Given the description of an element on the screen output the (x, y) to click on. 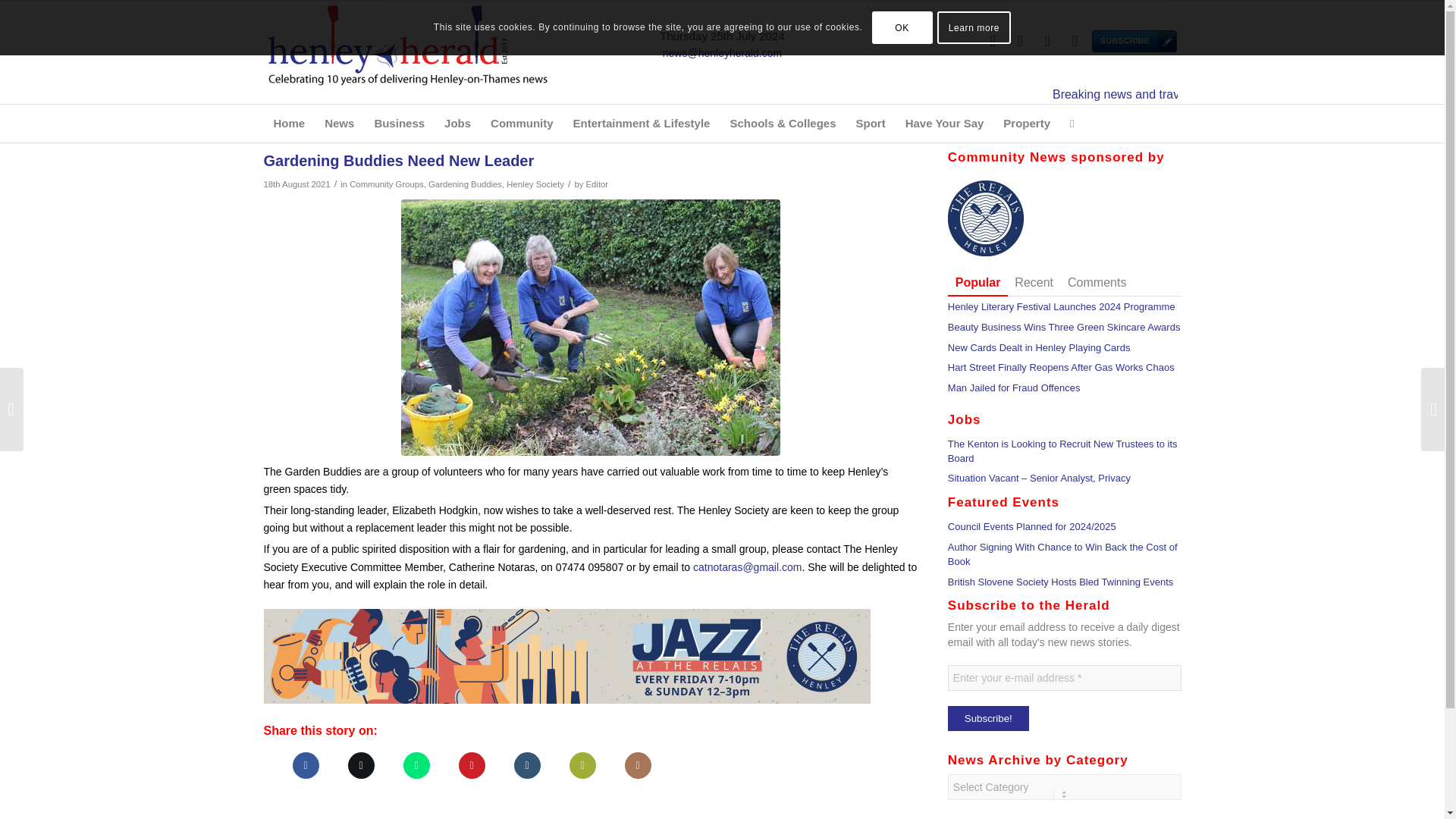
Posts by Editor (597, 184)
Henley Herald logo (407, 44)
Home (289, 123)
Business (398, 123)
X (992, 40)
Henley Herald logo (407, 52)
Youtube (1074, 40)
News (339, 123)
Jobs (456, 123)
Subscribe! (988, 718)
Facebook (1019, 40)
Subscribe (1101, 40)
Community (521, 123)
Instagram (1046, 40)
